Given the description of an element on the screen output the (x, y) to click on. 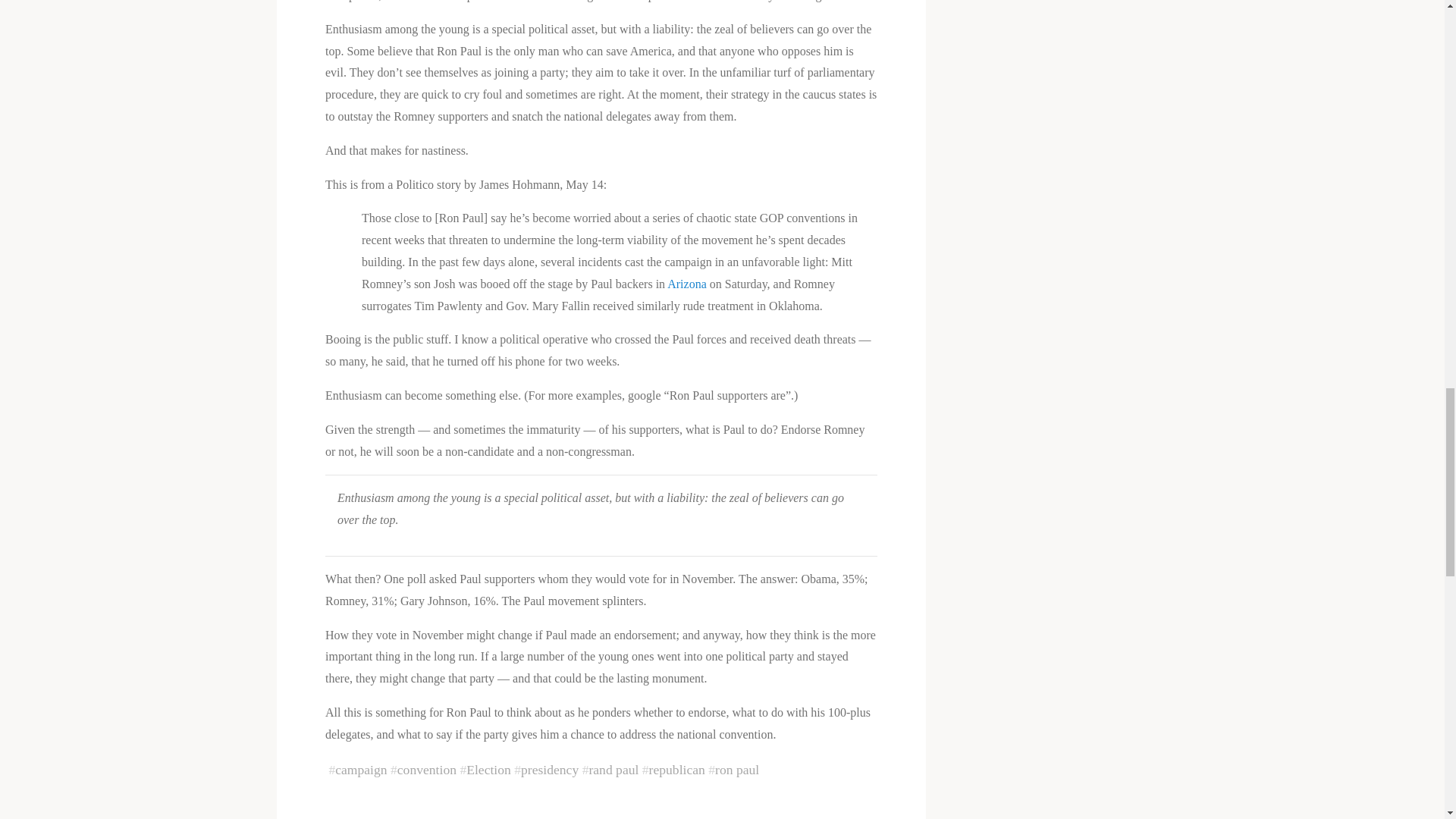
campaign (360, 769)
Election (488, 769)
Arizona (688, 283)
presidency (549, 769)
convention (425, 769)
